Given the description of an element on the screen output the (x, y) to click on. 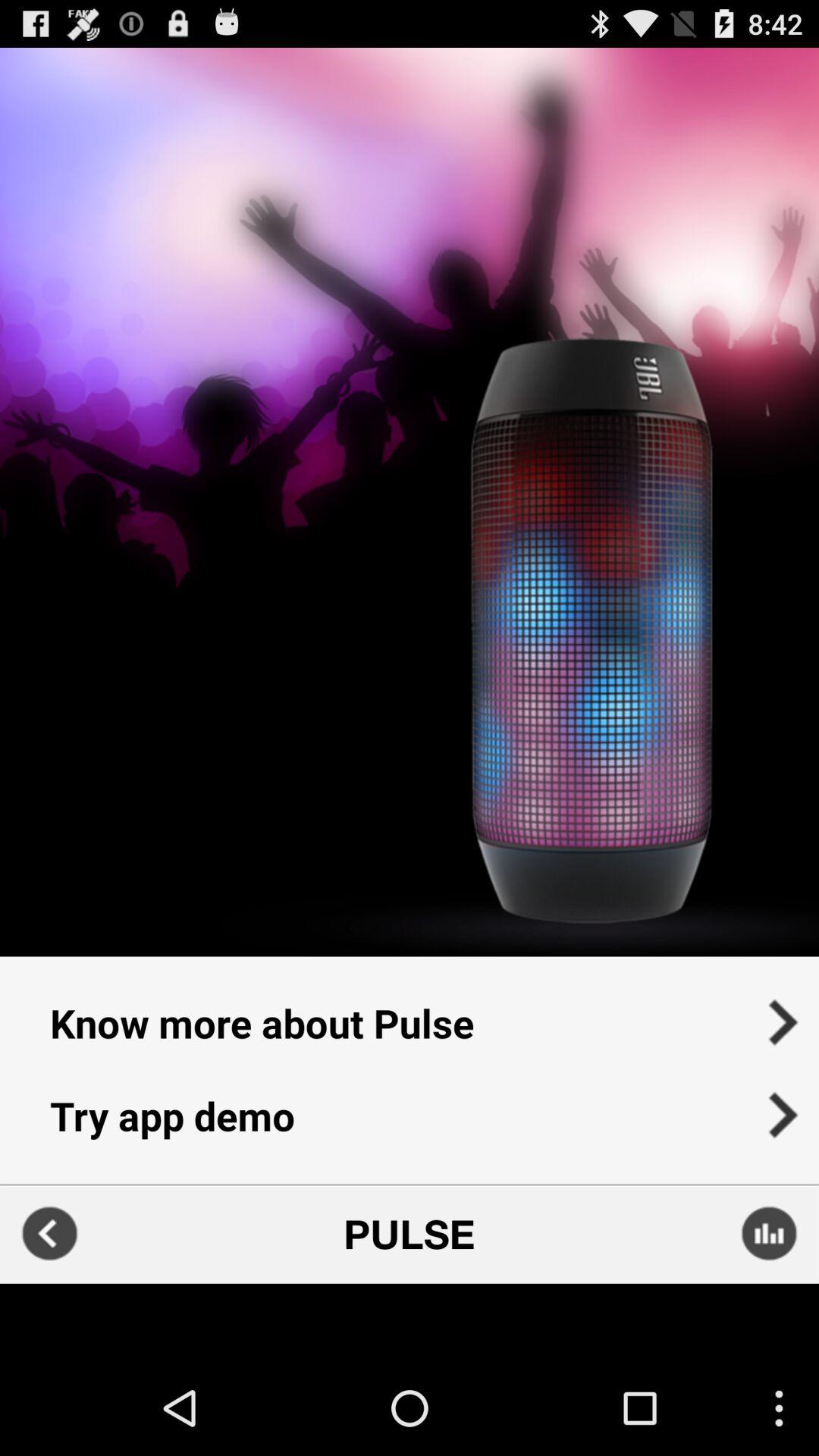
press the item above try app demo item (409, 1012)
